Given the description of an element on the screen output the (x, y) to click on. 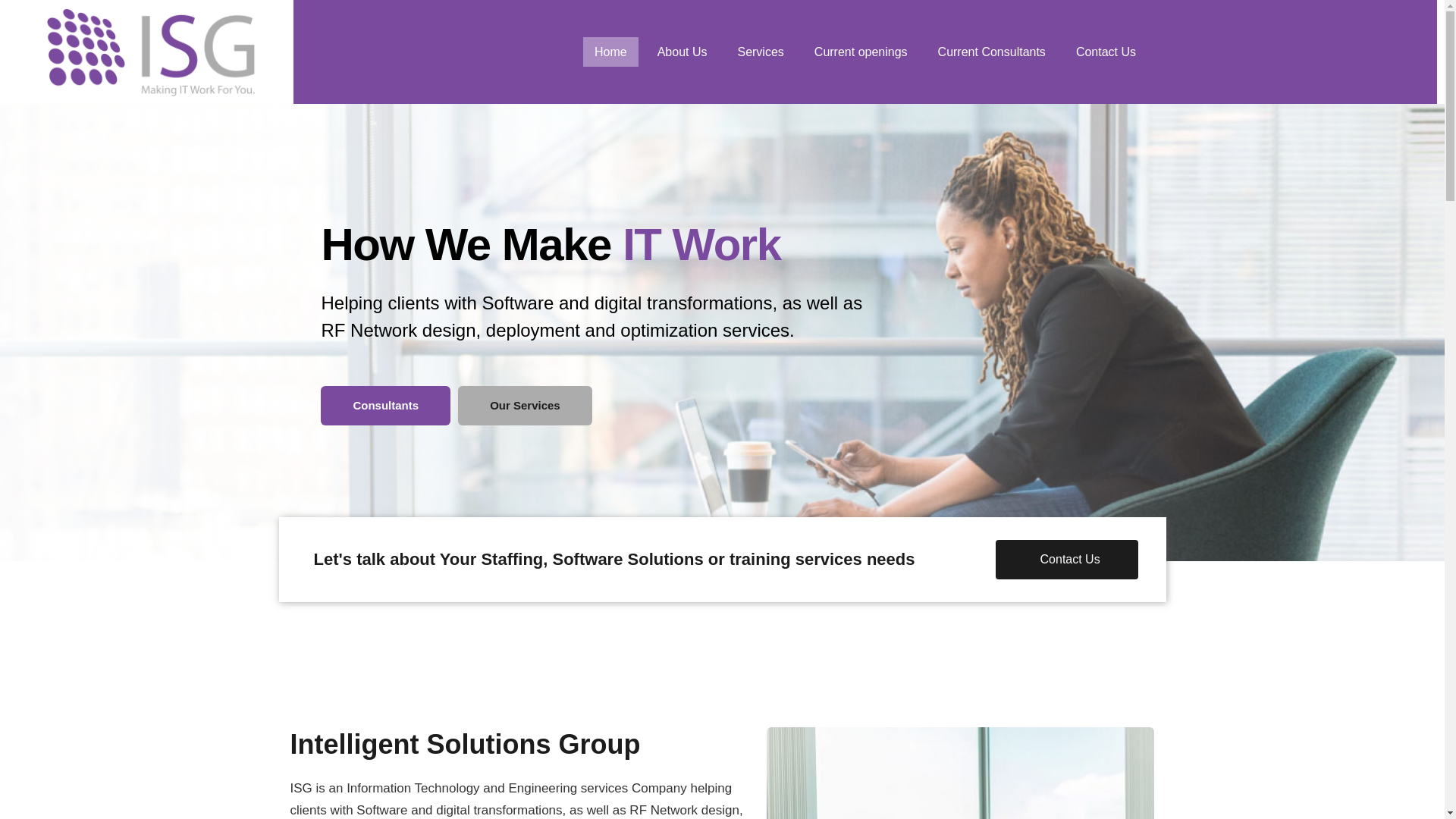
Current openings (860, 51)
Consultants (384, 405)
About Us (682, 51)
Current Consultants (991, 51)
  Contact Us (1066, 559)
Contact Us (1105, 51)
Services (759, 51)
Our Services (525, 405)
Home (611, 51)
